Given the description of an element on the screen output the (x, y) to click on. 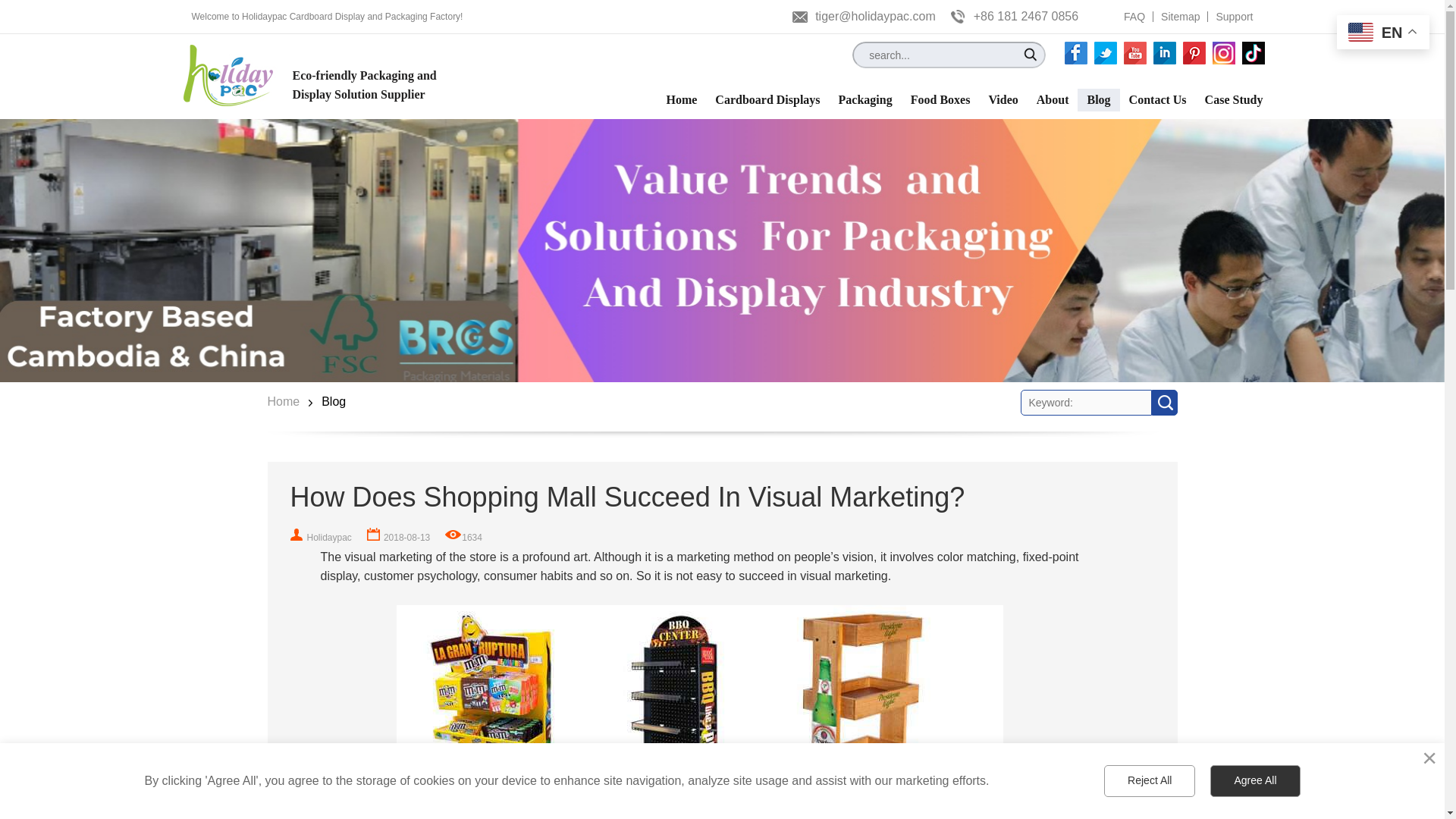
Sitemap (1179, 16)
Support (1233, 16)
Packaging (865, 99)
Cardboard Displays (767, 99)
Sitemap (1179, 16)
Home (681, 99)
Shenzhen Holiday Package and Display Co.Ltd (229, 75)
Packaging (865, 99)
Cardboard Displays (767, 99)
